Given the description of an element on the screen output the (x, y) to click on. 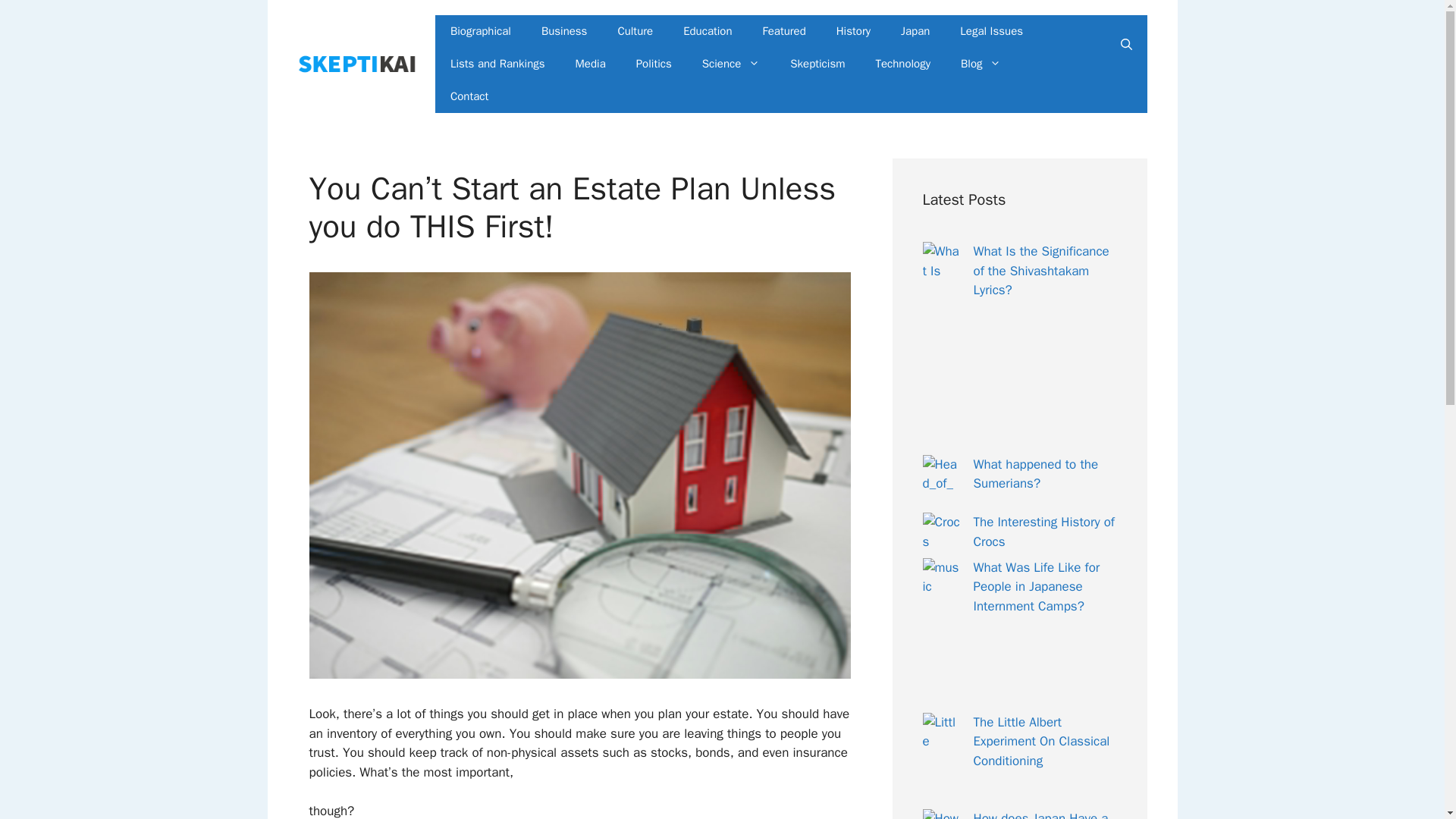
Blog (980, 63)
Legal Issues (991, 31)
Culture (635, 31)
Media (590, 63)
Featured (784, 31)
Technology (902, 63)
What Is the Significance of the Shivashtakam Lyrics? (1041, 270)
Skepticism (817, 63)
Japan (914, 31)
Lists and Rankings (497, 63)
